Given the description of an element on the screen output the (x, y) to click on. 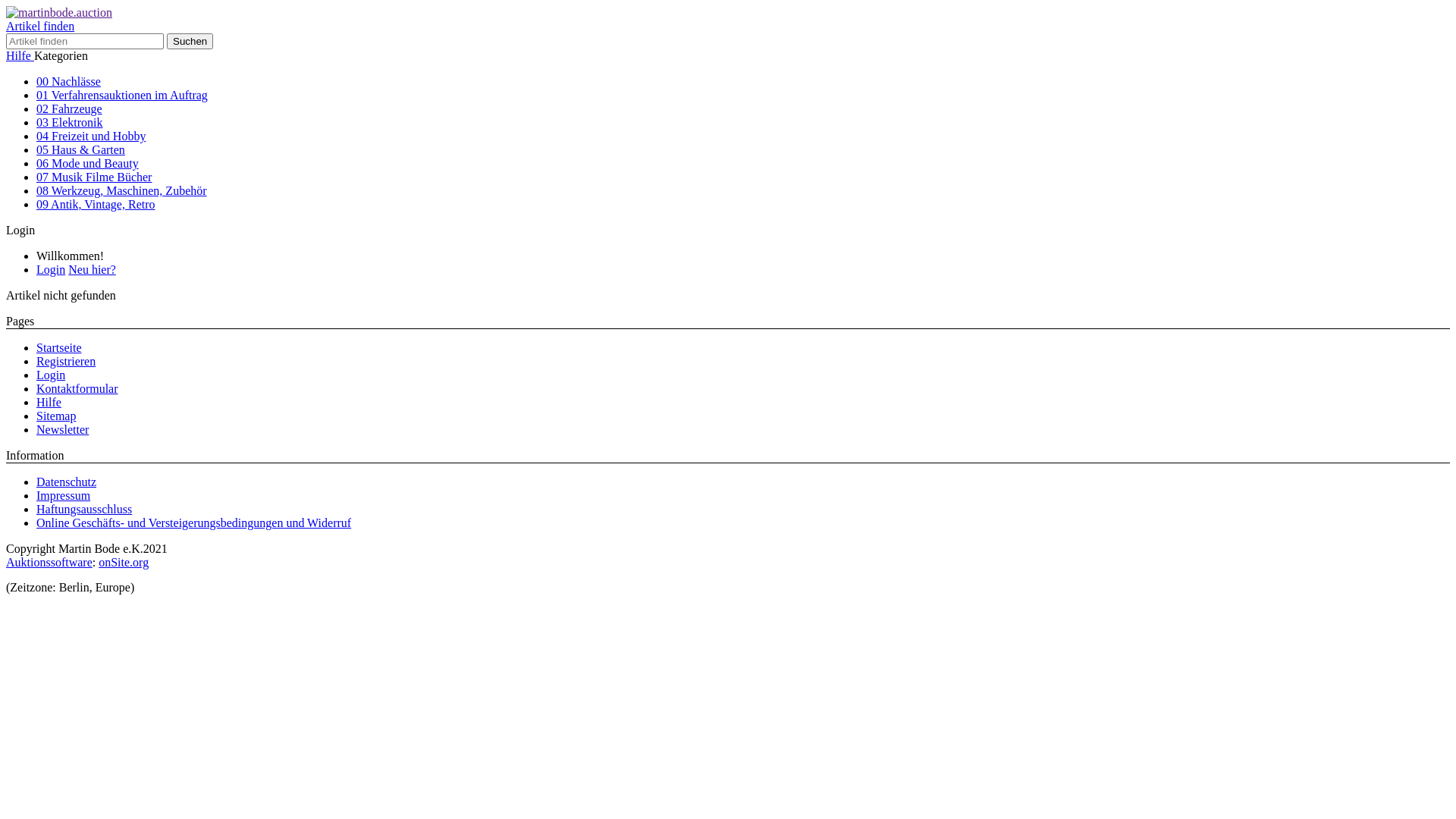
Haftungsausschluss Element type: text (83, 508)
Sitemap Element type: text (55, 415)
Hilfe Element type: text (20, 55)
Login Element type: text (50, 269)
Login Element type: text (50, 374)
Datenschutz Element type: text (66, 481)
Kategorien Element type: text (60, 55)
Hilfe Element type: text (48, 401)
Suchen Element type: text (189, 41)
09 Antik, Vintage, Retro Element type: text (95, 203)
Artikel finden Element type: text (40, 25)
onSite.org Element type: text (123, 561)
Kontaktformular Element type: text (77, 388)
Auktionssoftware Element type: text (49, 561)
03 Elektronik Element type: text (69, 122)
02 Fahrzeuge Element type: text (69, 108)
Neu hier? Element type: text (92, 269)
06 Mode und Beauty Element type: text (87, 162)
Newsletter Element type: text (62, 429)
Registrieren Element type: text (65, 360)
04 Freizeit und Hobby Element type: text (90, 135)
01 Verfahrensauktionen im Auftrag Element type: text (121, 94)
Login Element type: text (20, 229)
Impressum Element type: text (63, 495)
Startseite Element type: text (58, 347)
05 Haus & Garten Element type: text (80, 149)
